Given the description of an element on the screen output the (x, y) to click on. 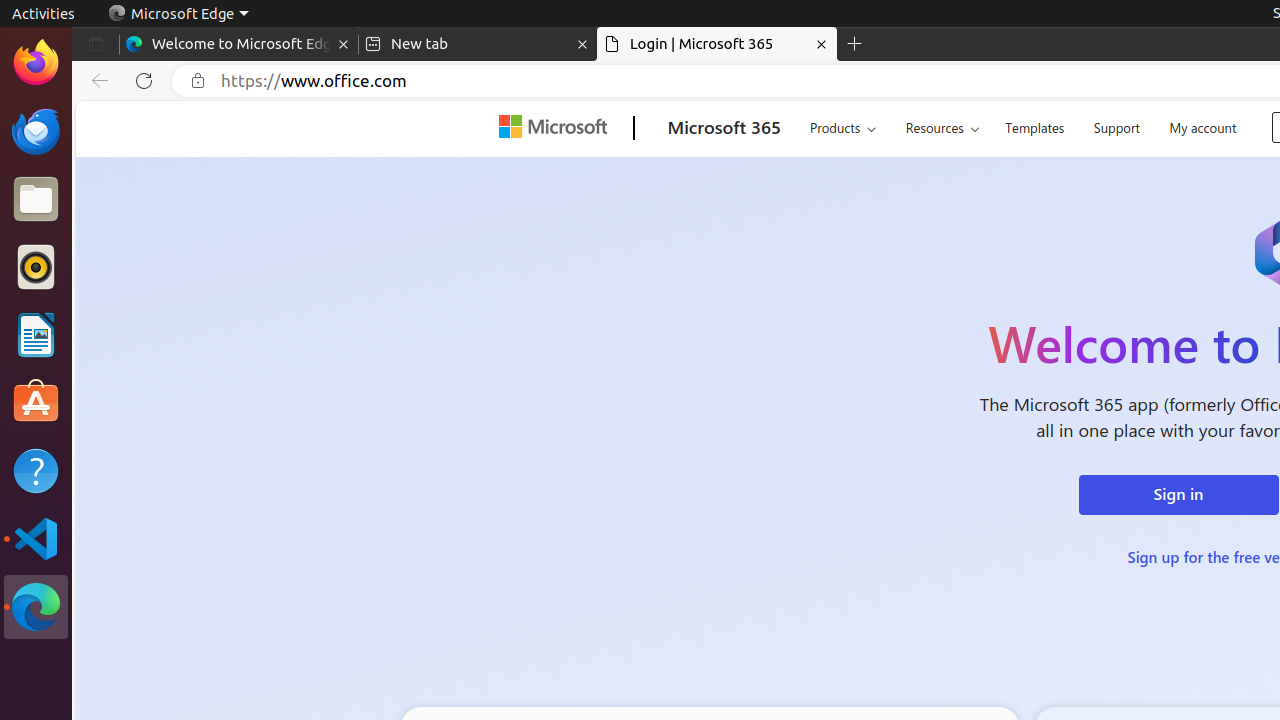
Thunderbird Mail Element type: push-button (36, 131)
Microsoft 365 Element type: link (724, 129)
Sign in Element type: push-button (1178, 495)
Microsoft Edge Element type: menu (178, 13)
Ubuntu Software Element type: push-button (36, 402)
